Given the description of an element on the screen output the (x, y) to click on. 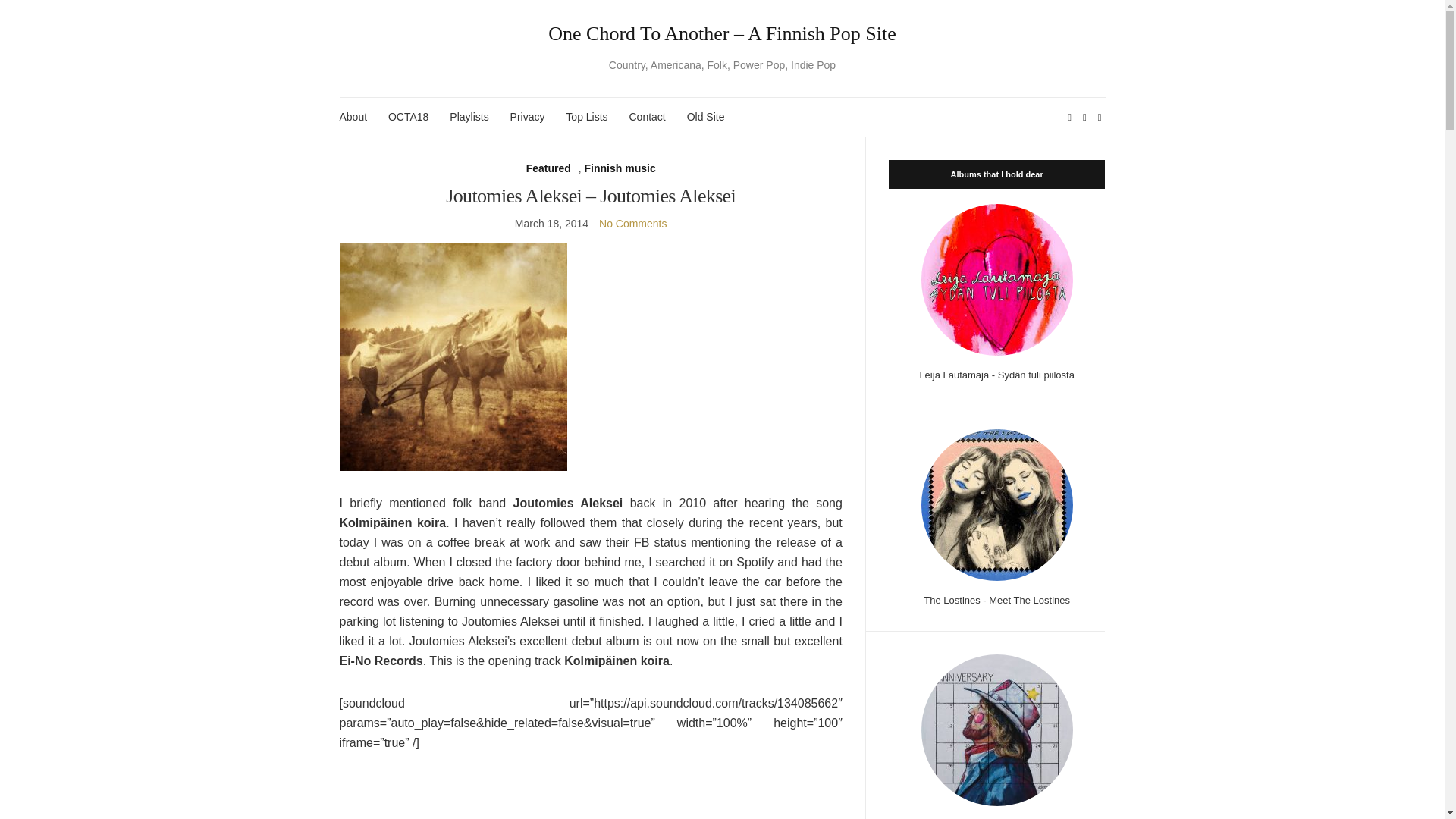
OCTA18 (408, 117)
About (353, 117)
Finnish music (620, 168)
Featured (547, 168)
Privacy (527, 117)
Playlists (468, 117)
Contact (646, 117)
No Comments (632, 223)
Top Lists (586, 117)
Old Site (706, 117)
